Given the description of an element on the screen output the (x, y) to click on. 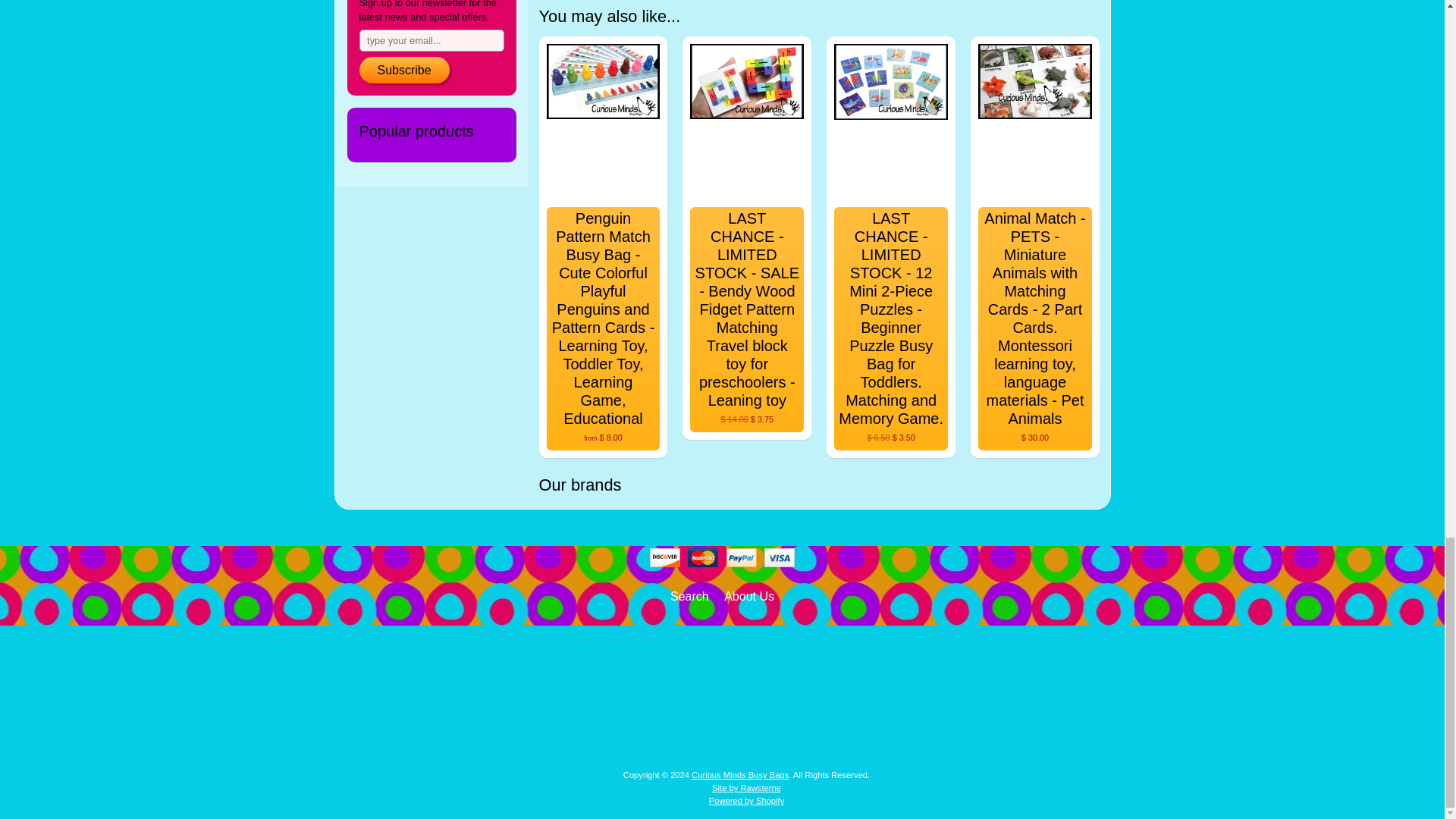
Our brands (818, 485)
Our brands (818, 485)
